Given the description of an element on the screen output the (x, y) to click on. 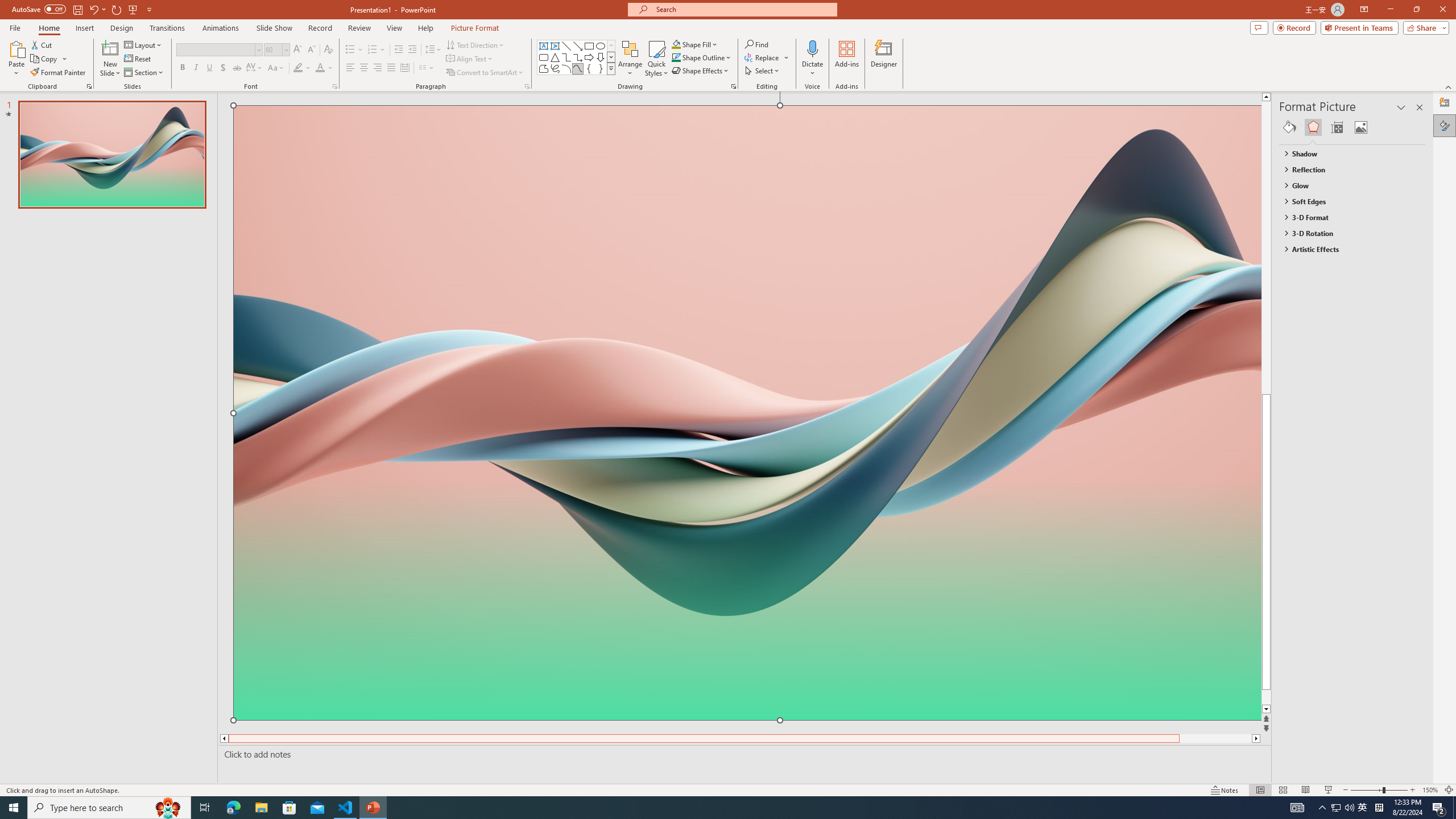
Reflection (1347, 169)
Glow (1347, 185)
3-D Format (1347, 217)
